Given the description of an element on the screen output the (x, y) to click on. 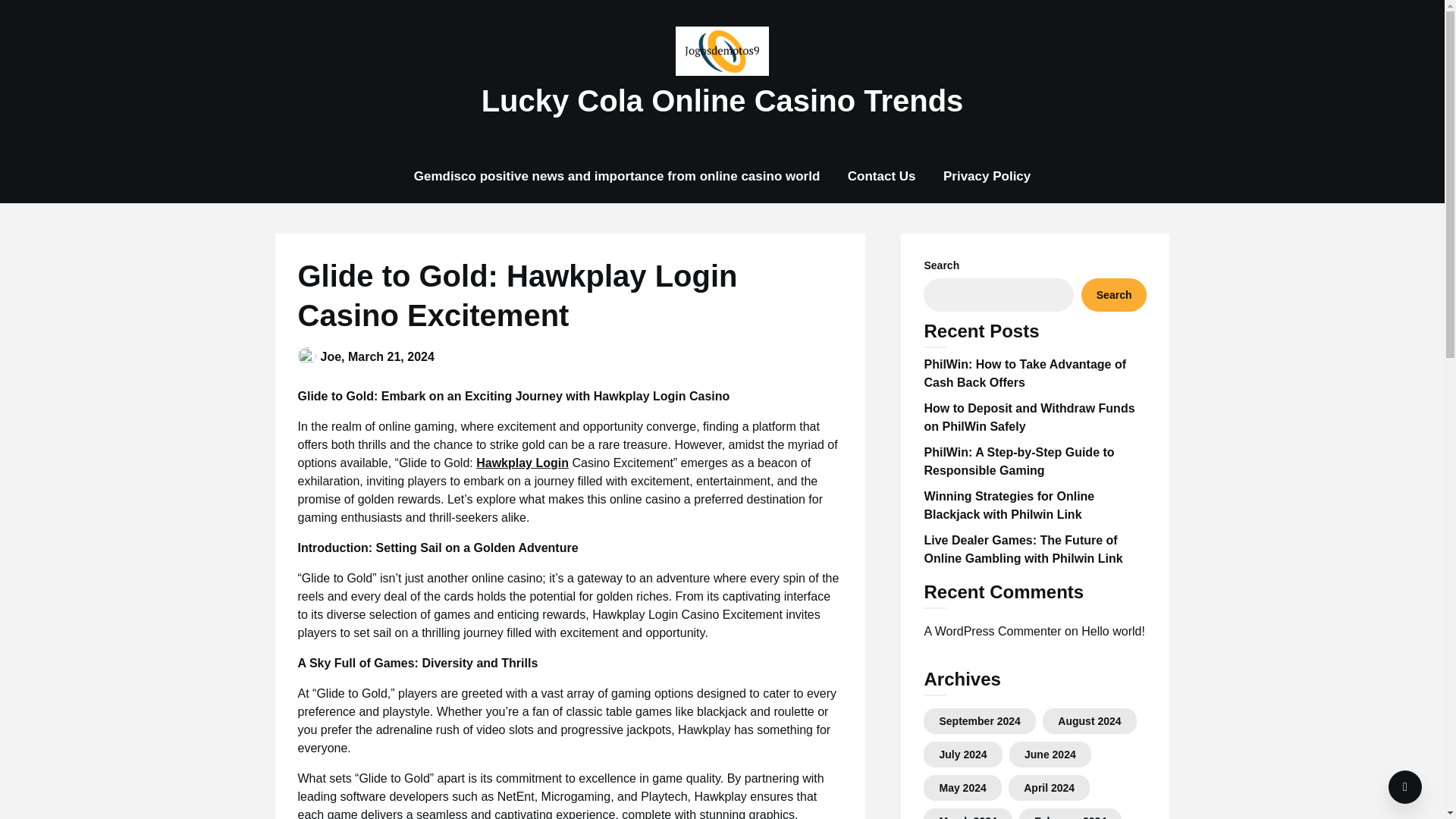
Search (1114, 295)
Hawkplay Login (522, 462)
March 21, 2024 (390, 356)
To Top (1405, 786)
Winning Strategies for Online Blackjack with Philwin Link (1008, 504)
How to Deposit and Withdraw Funds on PhilWin Safely (1028, 417)
February 2024 (1069, 816)
PhilWin: How to Take Advantage of Cash Back Offers (1024, 373)
April 2024 (1048, 787)
Hello world! (1112, 631)
